Given the description of an element on the screen output the (x, y) to click on. 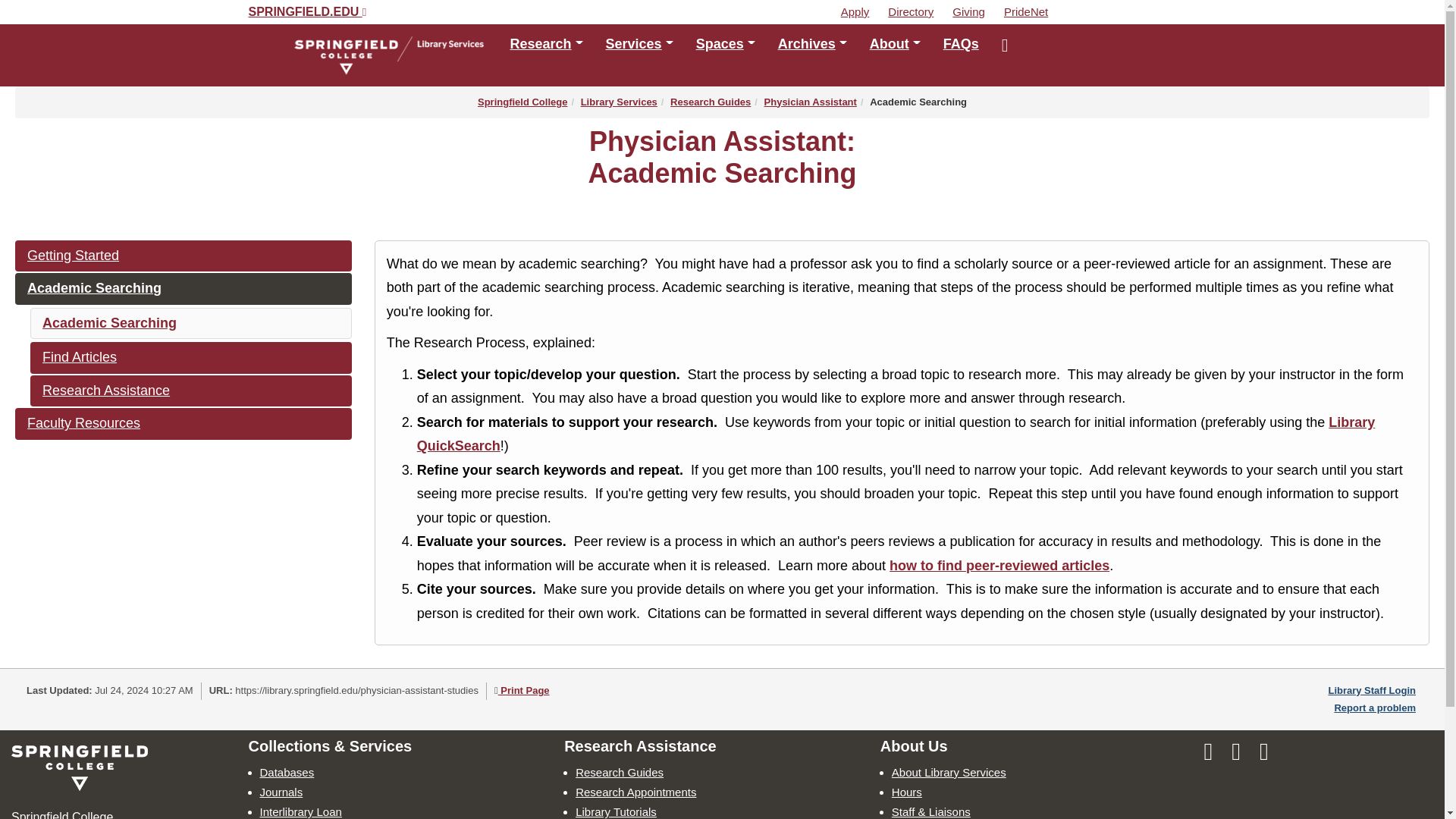
Archives and Special Collections (813, 43)
Spaces (725, 43)
About Us (895, 43)
Archives (813, 43)
Library Services (639, 43)
Giving (976, 11)
SPRINGFIELD.EDU (307, 11)
Library Spaces (725, 43)
Frequently Asked Questions (960, 43)
Research Collections and Assistance (546, 43)
